Given the description of an element on the screen output the (x, y) to click on. 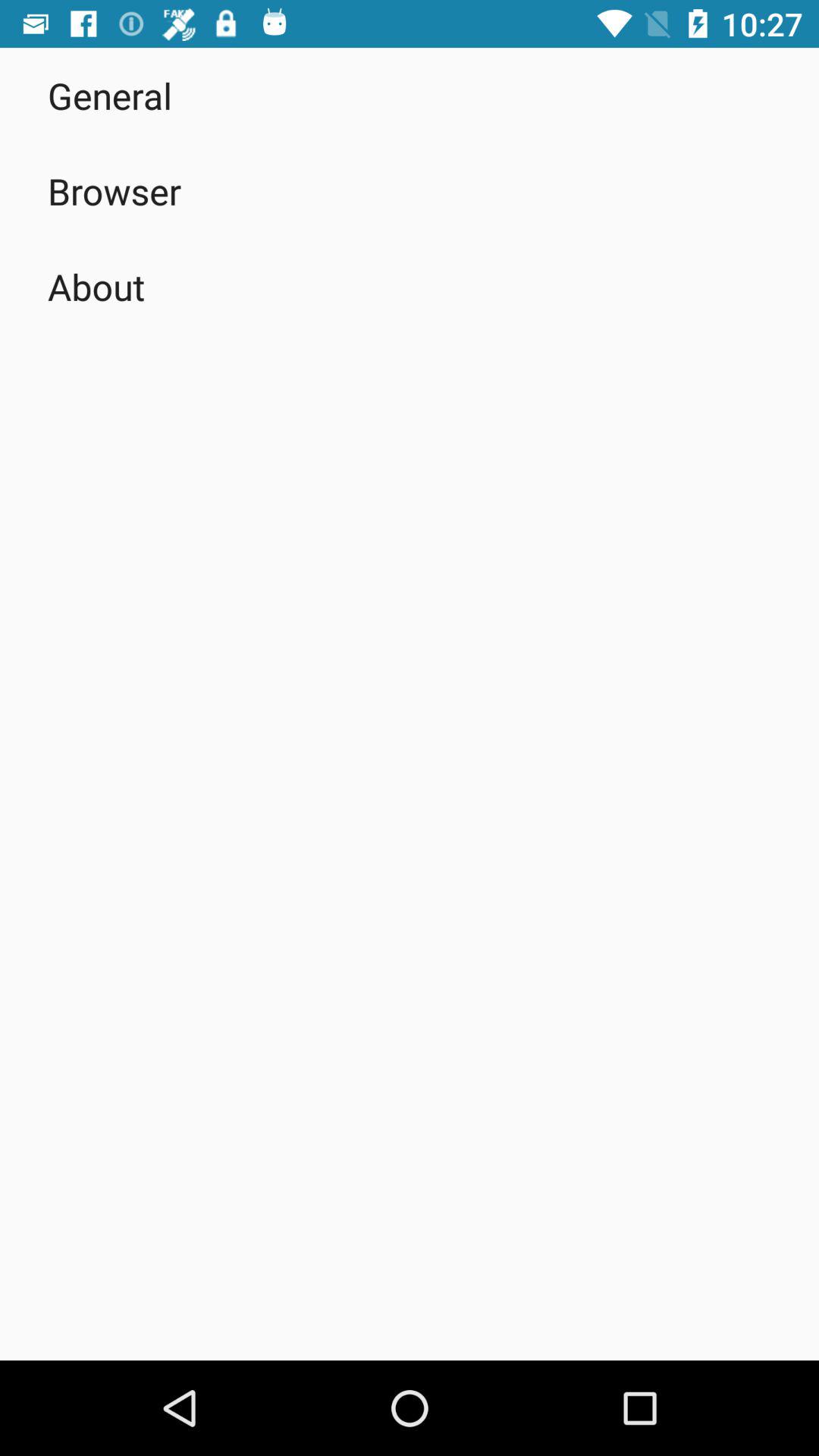
select the icon above the about app (114, 190)
